Given the description of an element on the screen output the (x, y) to click on. 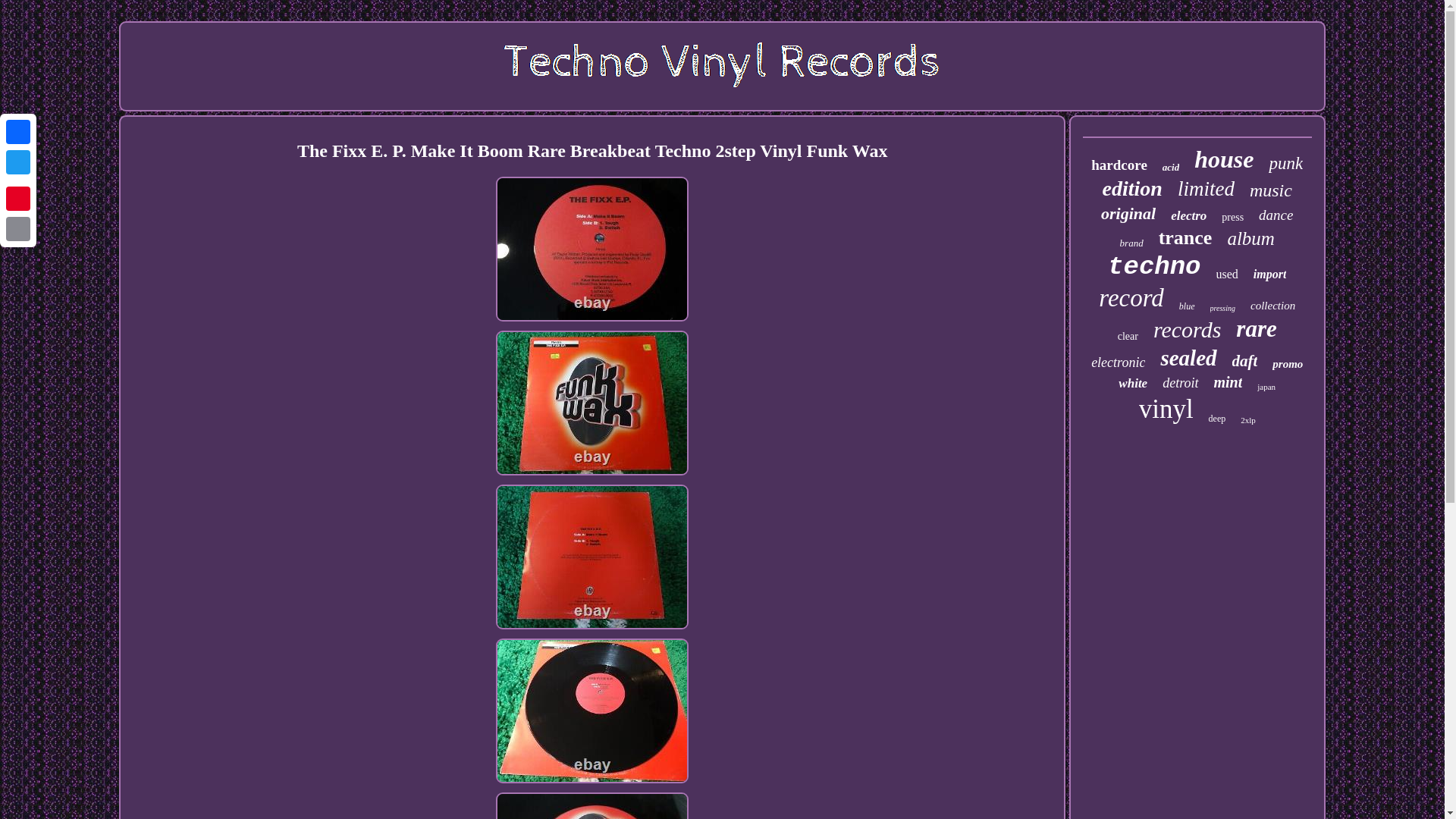
limited (1205, 188)
record (1131, 298)
collection (1272, 305)
album (1251, 238)
daft (1244, 361)
dance (1275, 215)
blue (1187, 306)
trance (1185, 237)
punk (1285, 163)
electro (1188, 215)
rare (1256, 329)
acid (1170, 167)
Pinterest (17, 198)
